Given the description of an element on the screen output the (x, y) to click on. 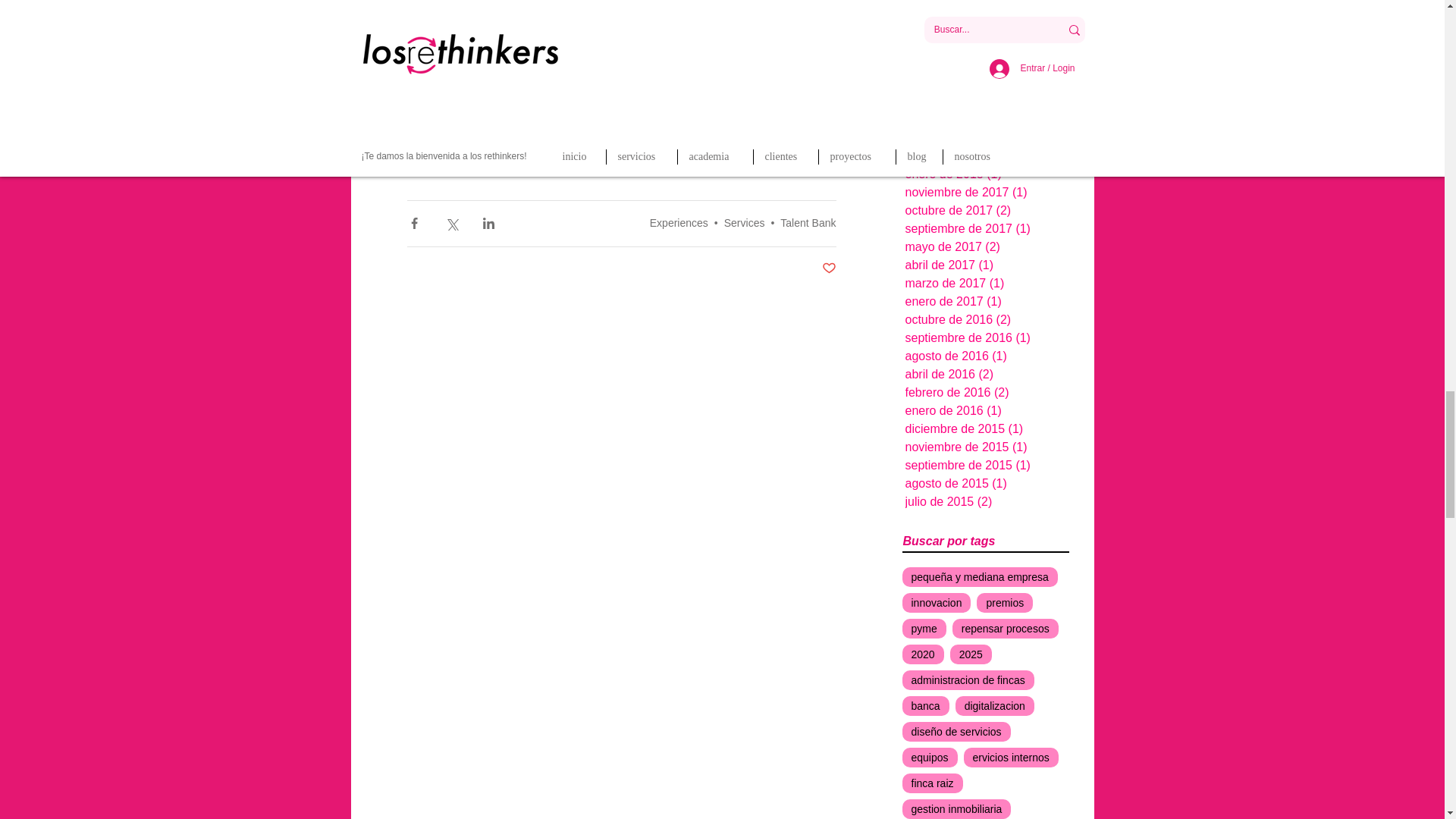
Services (744, 223)
Entrada no marcada como Me Gusta (828, 268)
Talent Bank (807, 223)
Experiences (678, 223)
